Given the description of an element on the screen output the (x, y) to click on. 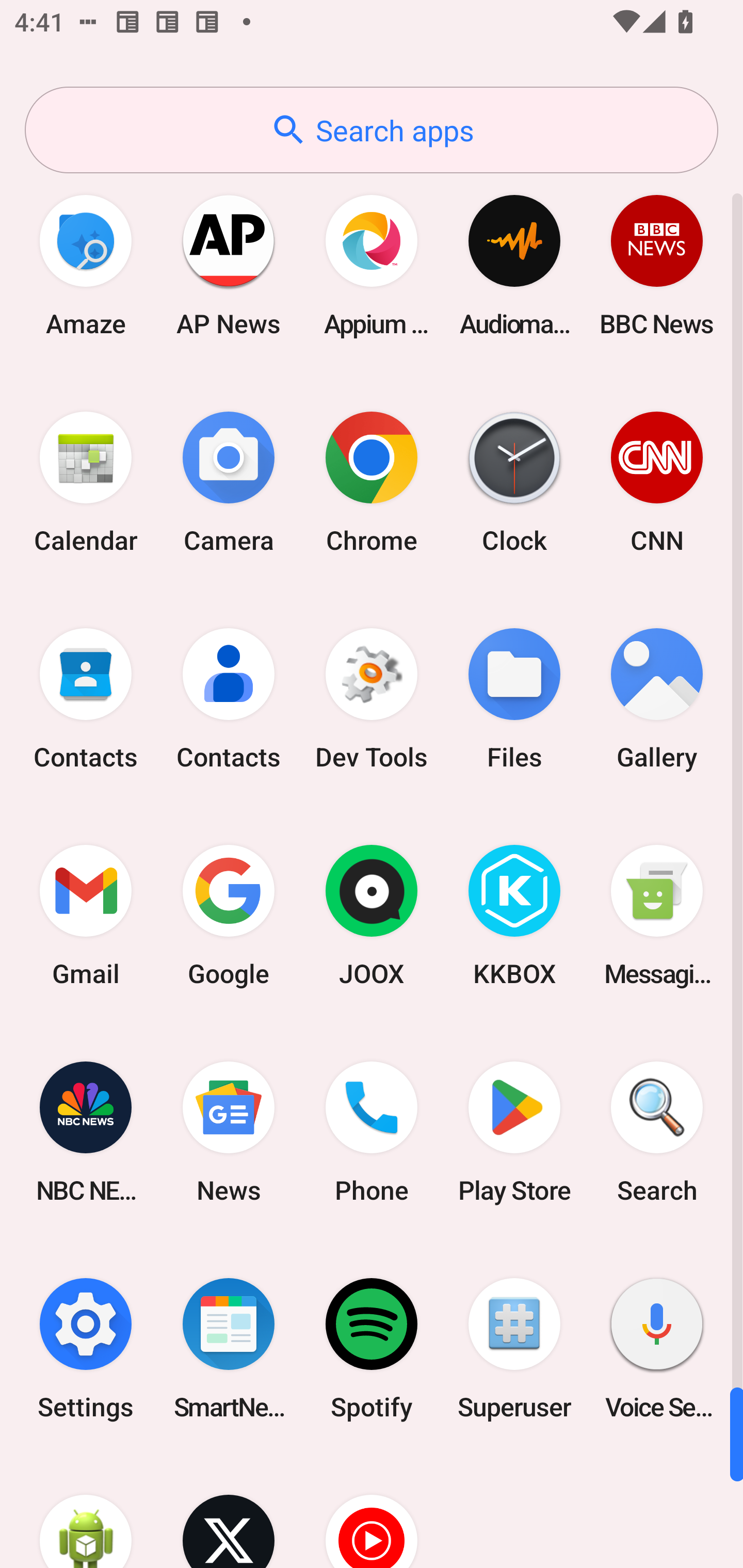
  Search apps (371, 130)
Amaze (85, 264)
AP News (228, 264)
Appium Settings (371, 264)
Audio­mack (514, 264)
BBC News (656, 264)
Calendar (85, 482)
Camera (228, 482)
Chrome (371, 482)
Clock (514, 482)
CNN (656, 482)
Contacts (85, 699)
Contacts (228, 699)
Dev Tools (371, 699)
Files (514, 699)
Gallery (656, 699)
Gmail (85, 915)
Google (228, 915)
JOOX (371, 915)
KKBOX (514, 915)
Messaging (656, 915)
NBC NEWS (85, 1131)
News (228, 1131)
Phone (371, 1131)
Play Store (514, 1131)
Search (656, 1131)
Settings (85, 1348)
SmartNews (228, 1348)
Spotify (371, 1348)
Superuser (514, 1348)
Voice Search (656, 1348)
WebView Browser Tester (85, 1512)
X (228, 1512)
YT Music (371, 1512)
